Given the description of an element on the screen output the (x, y) to click on. 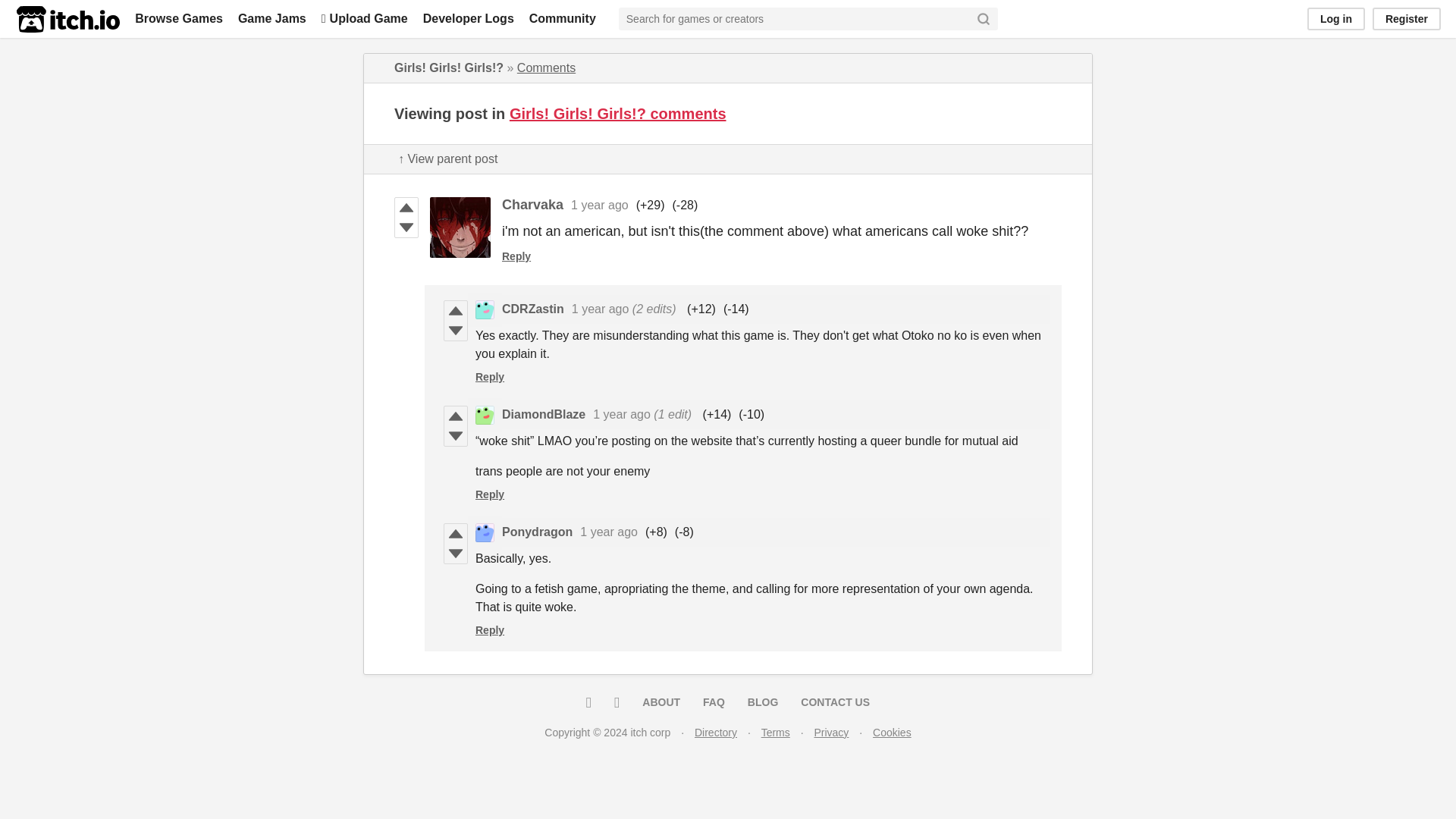
2023-06-04 15:26:53 (600, 308)
Browse Games (178, 18)
Register (1407, 18)
Vote up (455, 311)
DiamondBlaze (543, 413)
Game Jams (271, 18)
Community (562, 18)
Log in (1336, 18)
Vote down (405, 227)
Charvaka (532, 204)
itch.io - indie game hosting marketplace (67, 18)
Vote up (405, 207)
Reply (516, 256)
Developer Logs (468, 18)
Reply (489, 377)
